Given the description of an element on the screen output the (x, y) to click on. 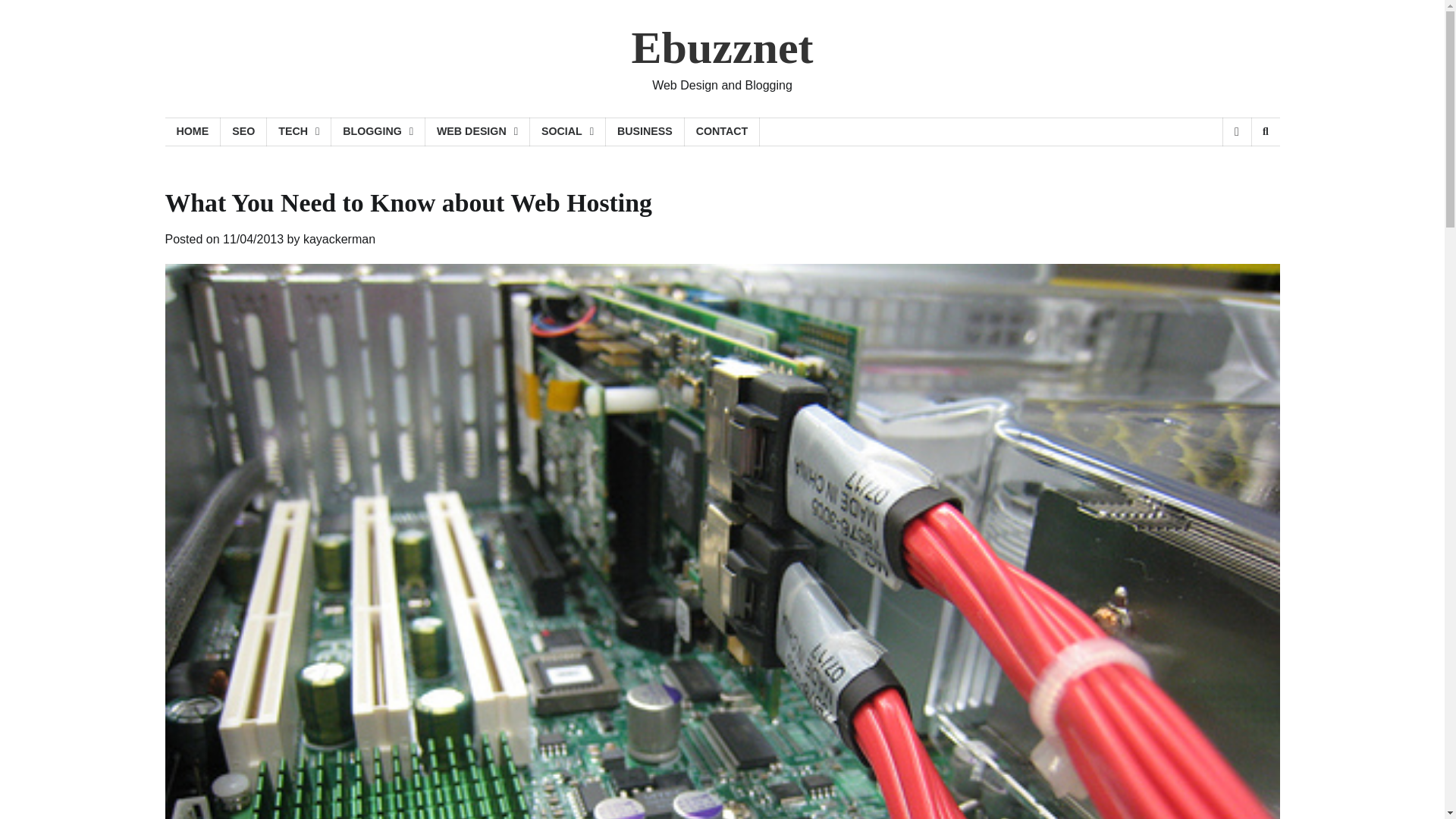
BLOGGING (378, 131)
WEB DESIGN (477, 131)
View Random Post (1236, 131)
Search (1240, 171)
Ebuzznet (721, 47)
SEO (243, 131)
HOME (193, 131)
CONTACT (722, 131)
Search (1264, 131)
kayackerman (338, 238)
SOCIAL (567, 131)
BUSINESS (644, 131)
TECH (298, 131)
